Given the description of an element on the screen output the (x, y) to click on. 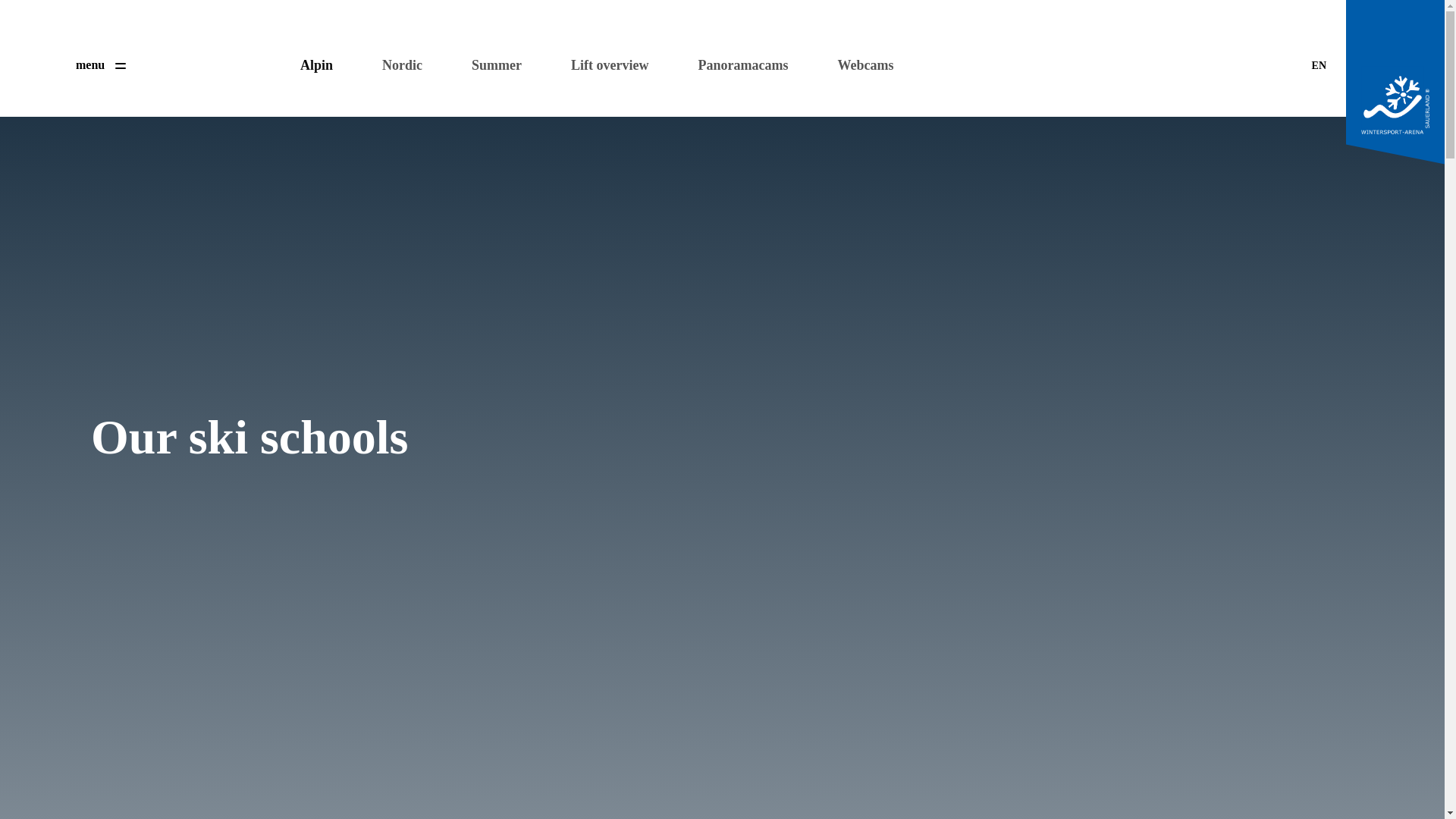
Webcams (855, 64)
Nordic (392, 64)
Alpin (307, 64)
Tickets (200, 61)
Lift overview (599, 64)
Panoramacams (732, 64)
EN (1318, 65)
Summer (486, 64)
